Given the description of an element on the screen output the (x, y) to click on. 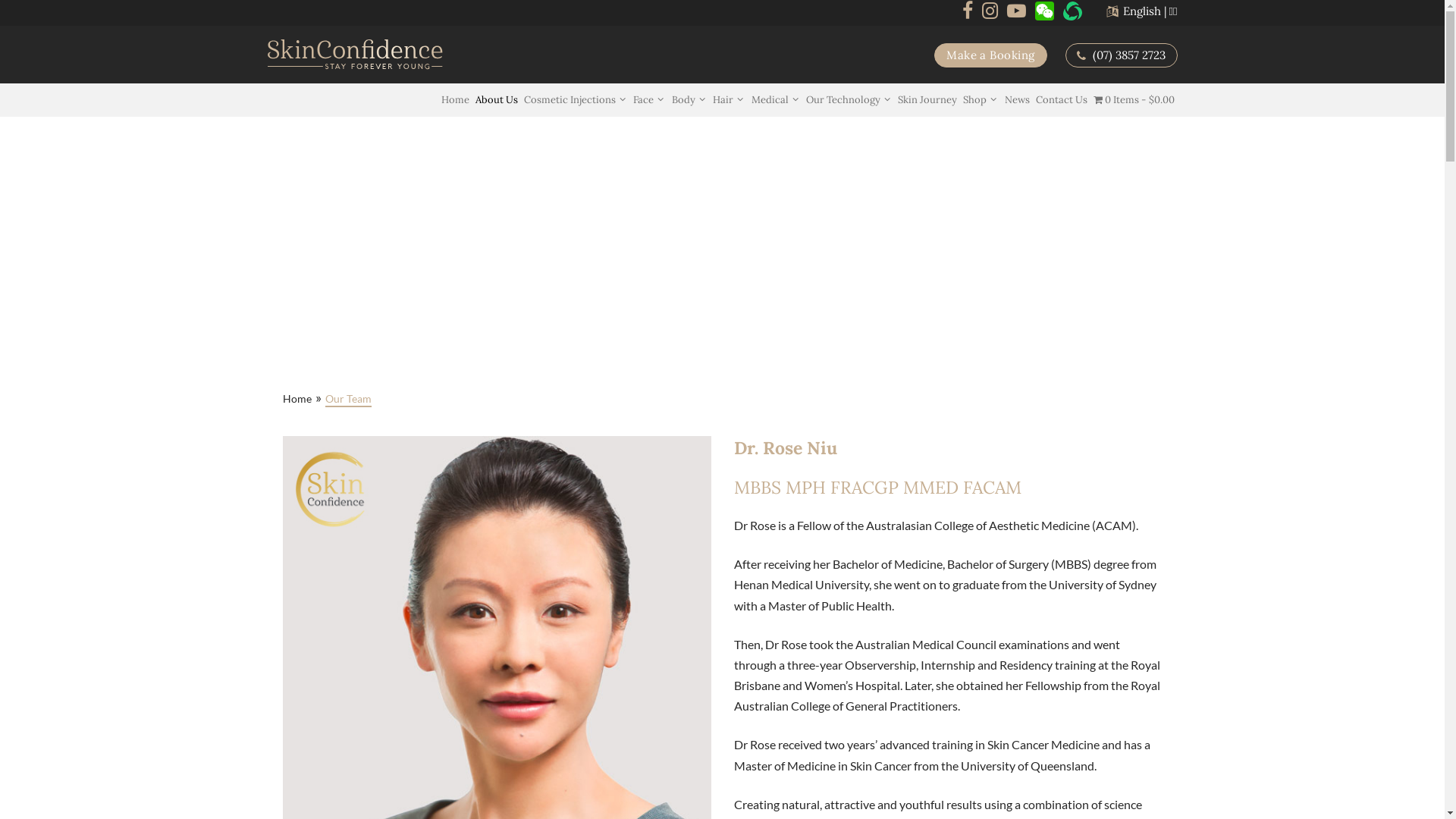
News Element type: text (1016, 99)
Body Element type: text (688, 99)
Home Element type: text (455, 99)
(07) 3857 2723 Element type: text (1120, 55)
About Us Element type: text (496, 99)
Contact Us Element type: text (1061, 99)
ACAM Element type: text (1113, 524)
Skin Journey Element type: text (927, 99)
Hair Element type: text (728, 99)
English Element type: text (1142, 10)
Home Element type: text (296, 398)
Shop Element type: text (980, 99)
Make a Booking Element type: text (990, 55)
Our Technology Element type: text (848, 99)
Face Element type: text (649, 99)
Medical Element type: text (775, 99)
0 Items$0.00 Element type: text (1133, 99)
Cosmetic Injections Element type: text (575, 99)
